Given the description of an element on the screen output the (x, y) to click on. 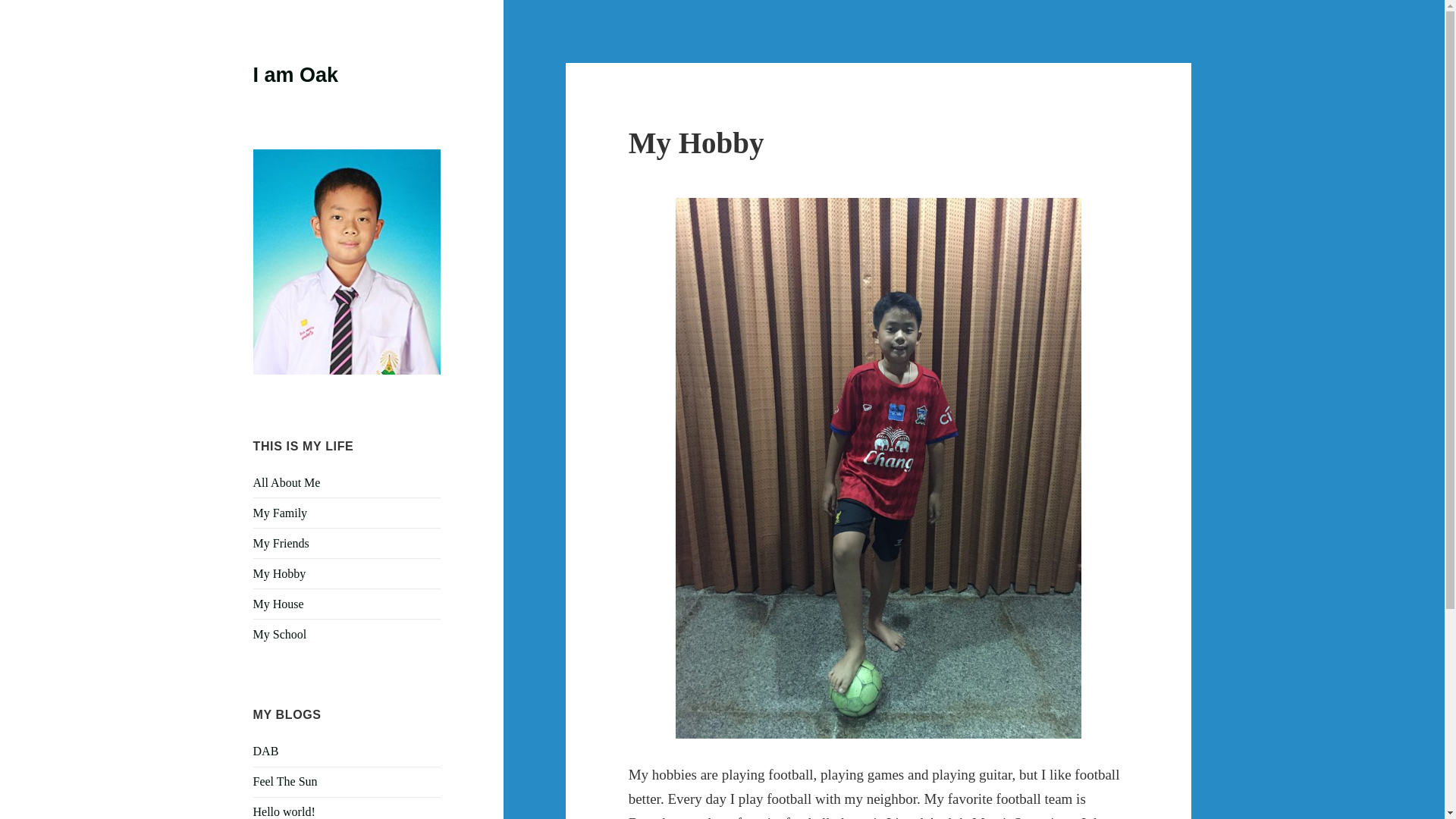
My Friends (280, 543)
My Family (280, 512)
Feel The Sun (285, 780)
My Hobby (279, 573)
DAB (266, 750)
My School (280, 634)
All About Me (286, 481)
Hello world! (284, 811)
My House (278, 603)
I am Oak (296, 74)
